Given the description of an element on the screen output the (x, y) to click on. 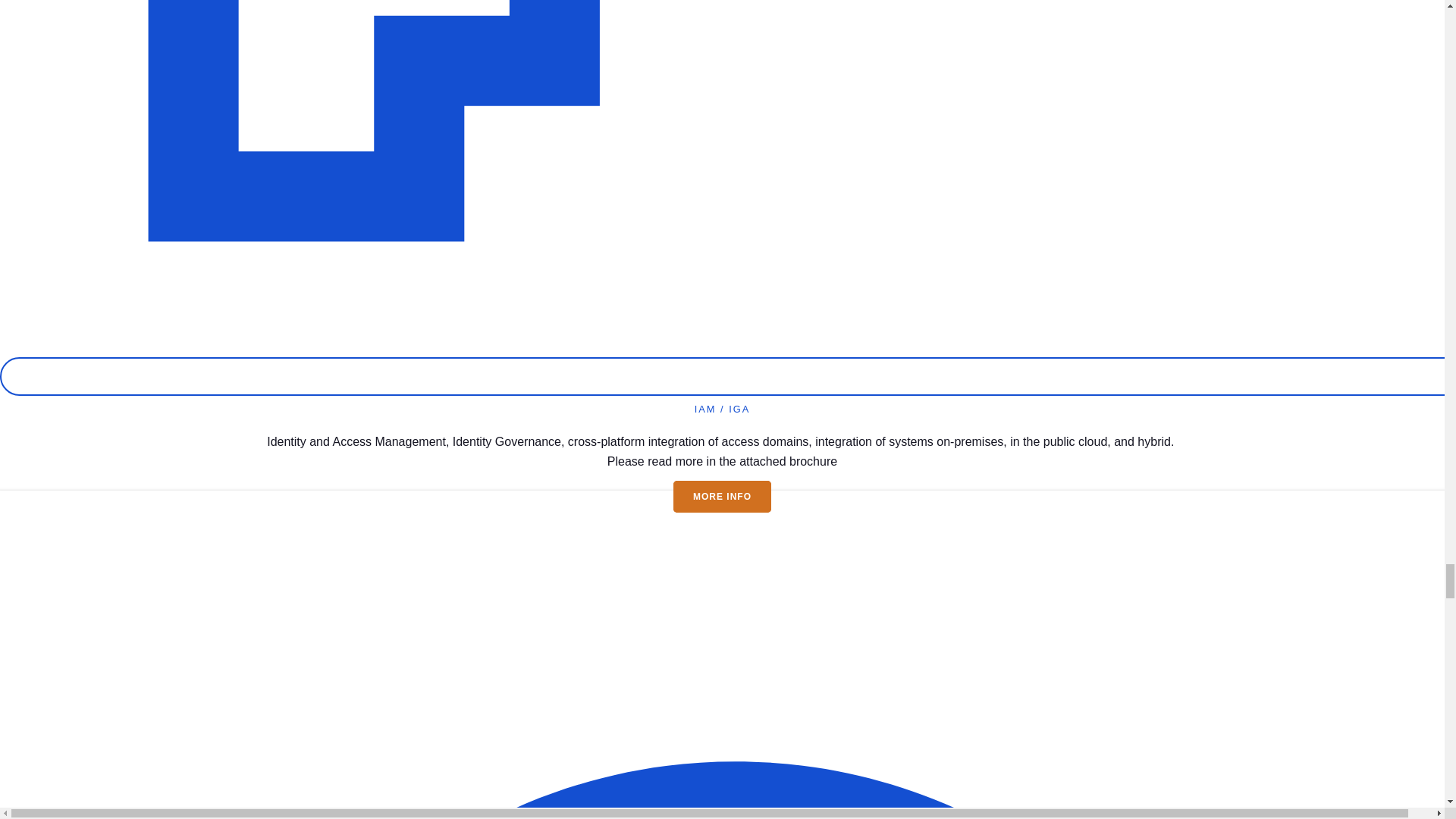
MORE INFO (721, 496)
